Given the description of an element on the screen output the (x, y) to click on. 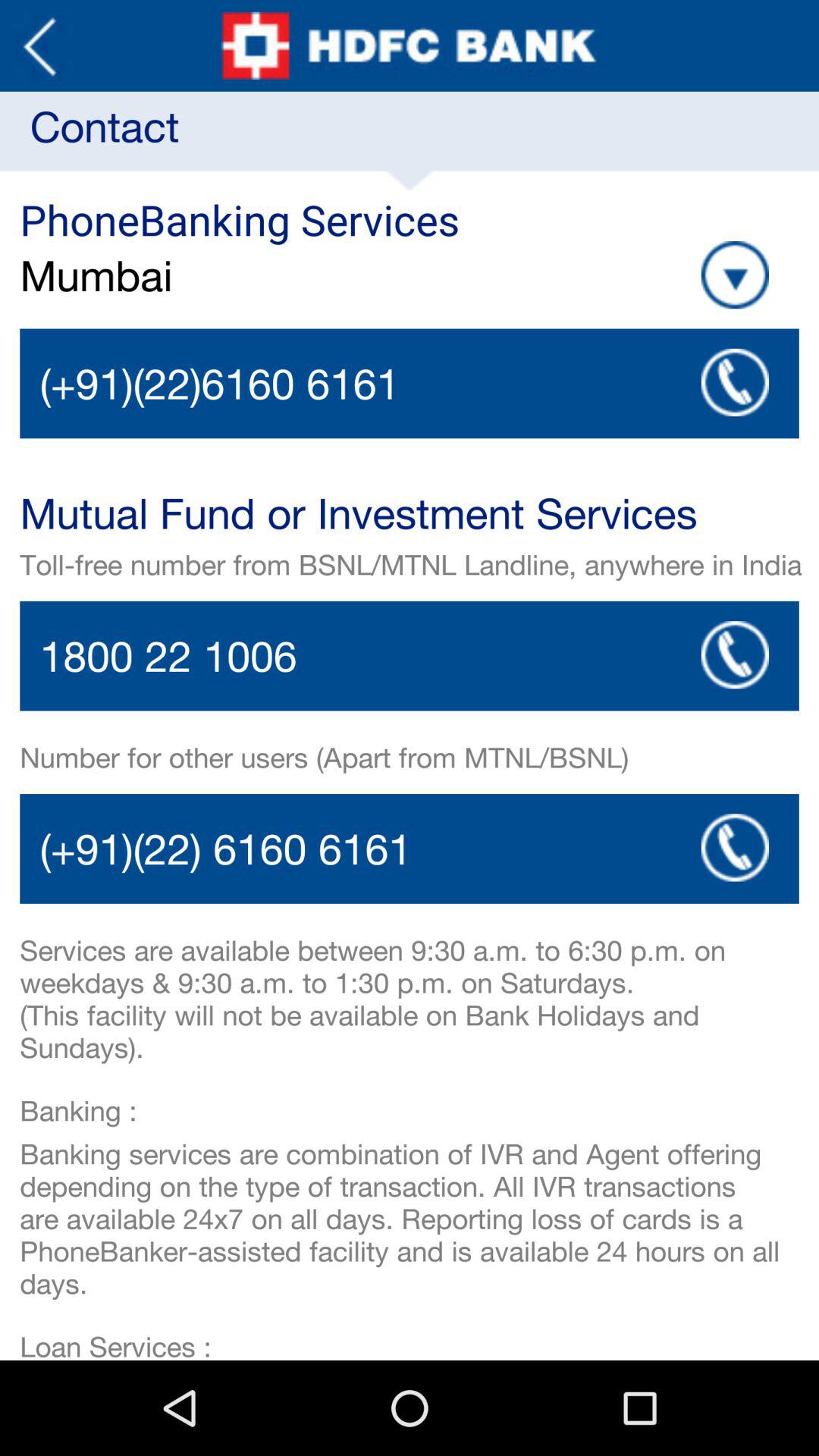
call option (409, 655)
